Given the description of an element on the screen output the (x, y) to click on. 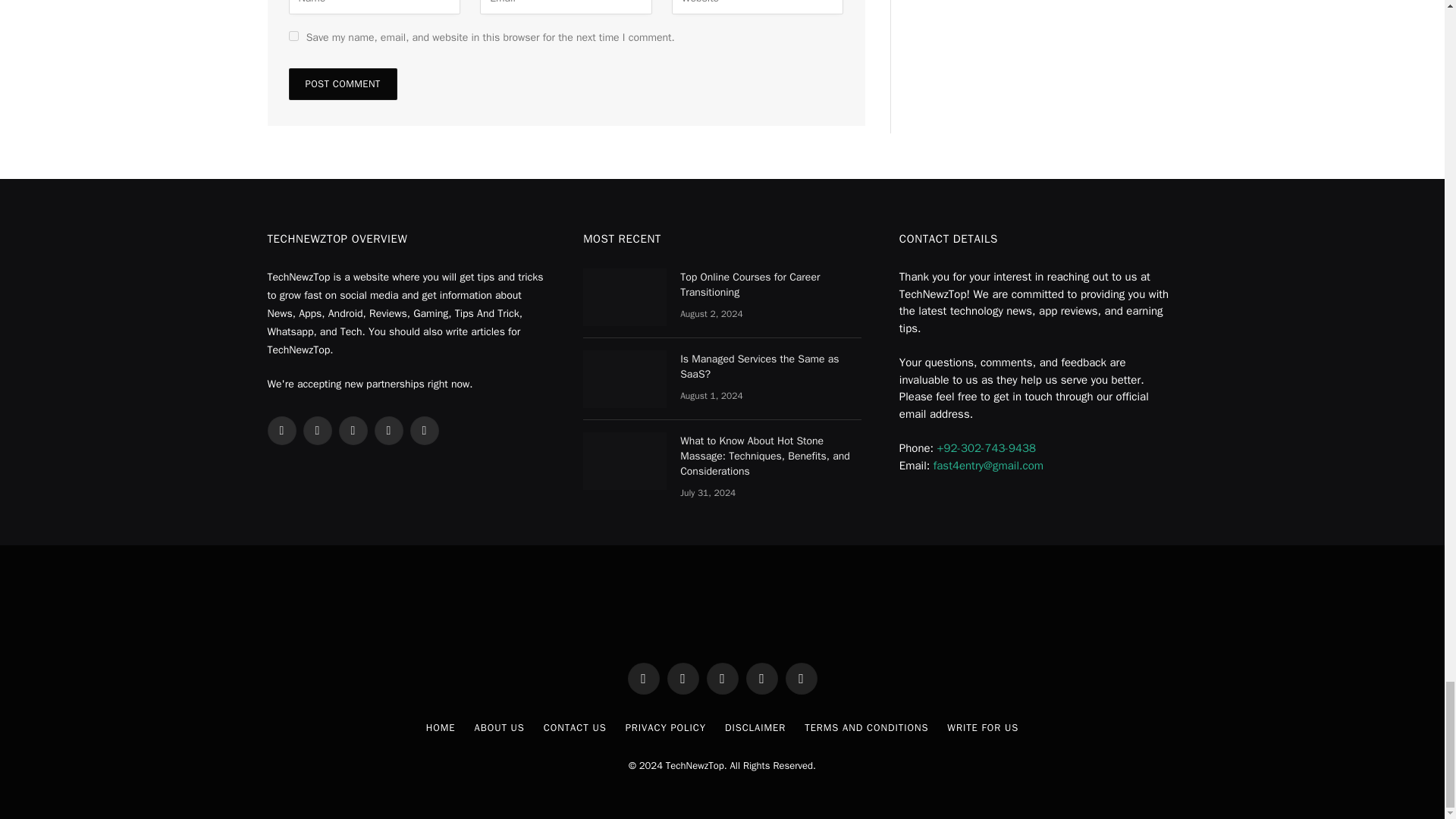
yes (293, 35)
Post Comment (342, 83)
